Given the description of an element on the screen output the (x, y) to click on. 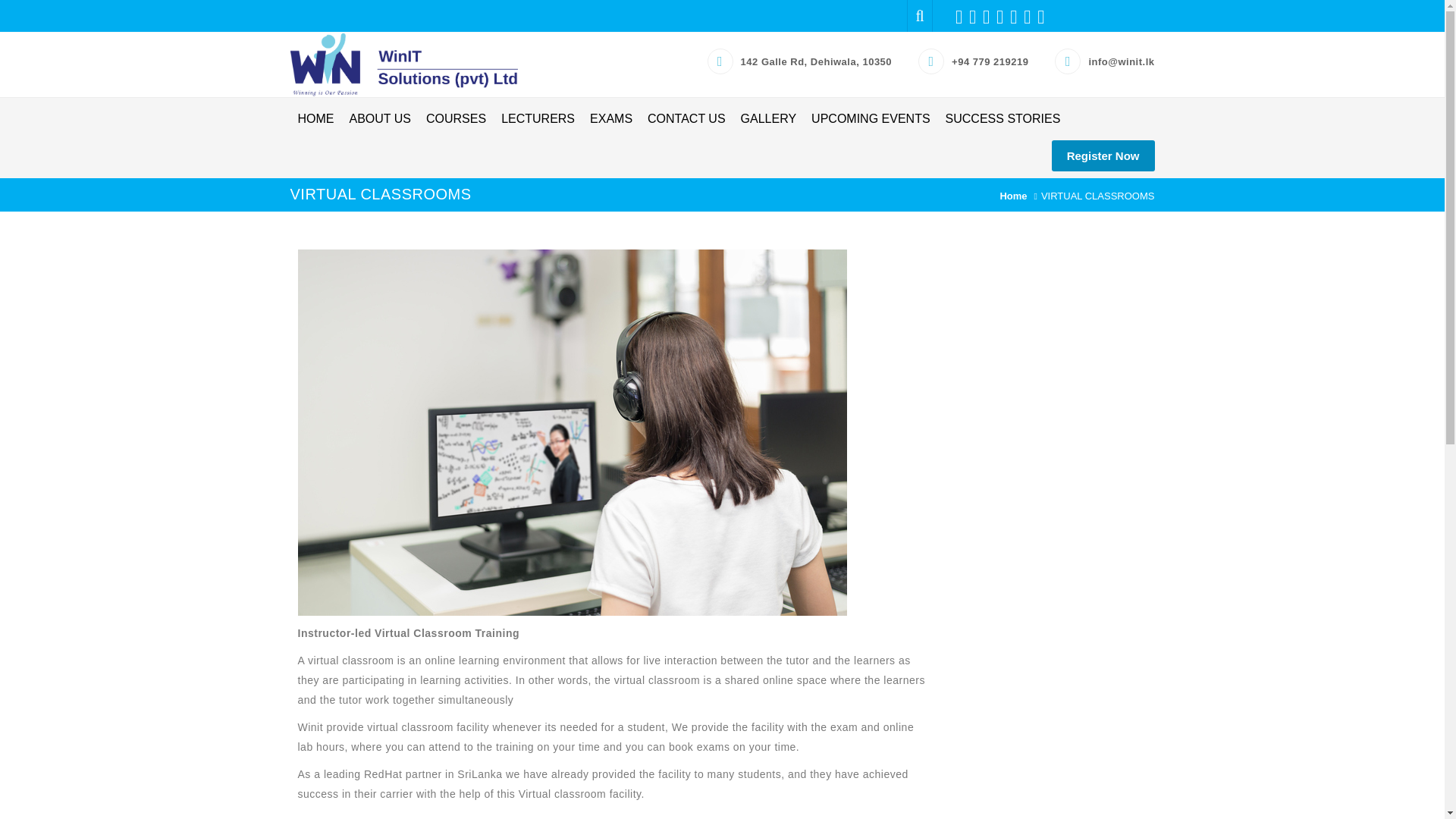
HOME (314, 118)
UPCOMING EVENTS (870, 118)
GALLERY (769, 118)
142 Galle Rd, Dehiwala, 10350 (816, 61)
CONTACT US (686, 118)
LECTURERS (537, 118)
SUCCESS STORIES (1002, 118)
EXAMS (611, 118)
COURSES (456, 118)
ABOUT US (379, 118)
